Given the description of an element on the screen output the (x, y) to click on. 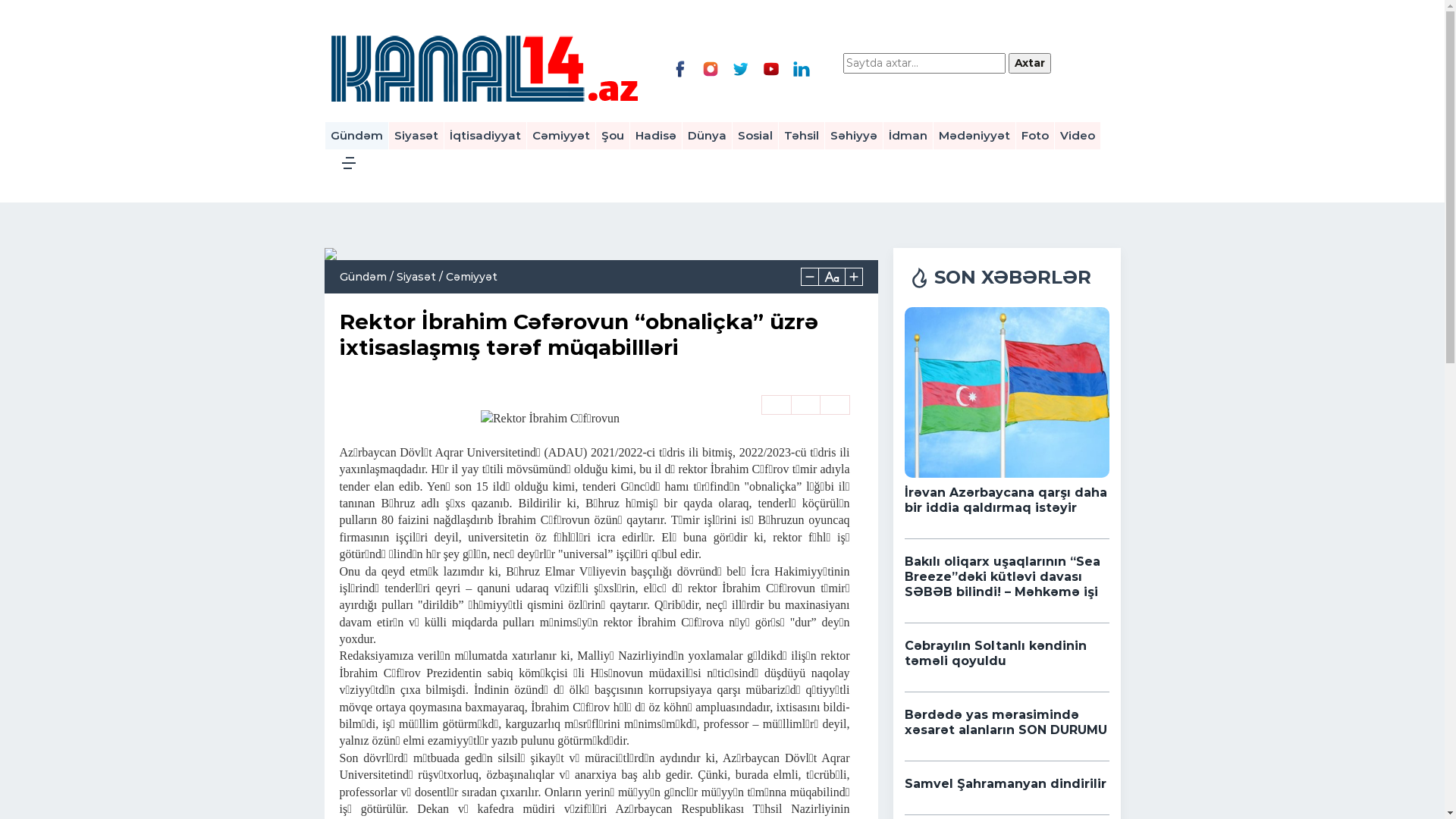
Axtar Element type: text (1029, 63)
Foto Element type: text (1035, 135)
Sosial Element type: text (755, 135)
Video Element type: text (1076, 135)
